Given the description of an element on the screen output the (x, y) to click on. 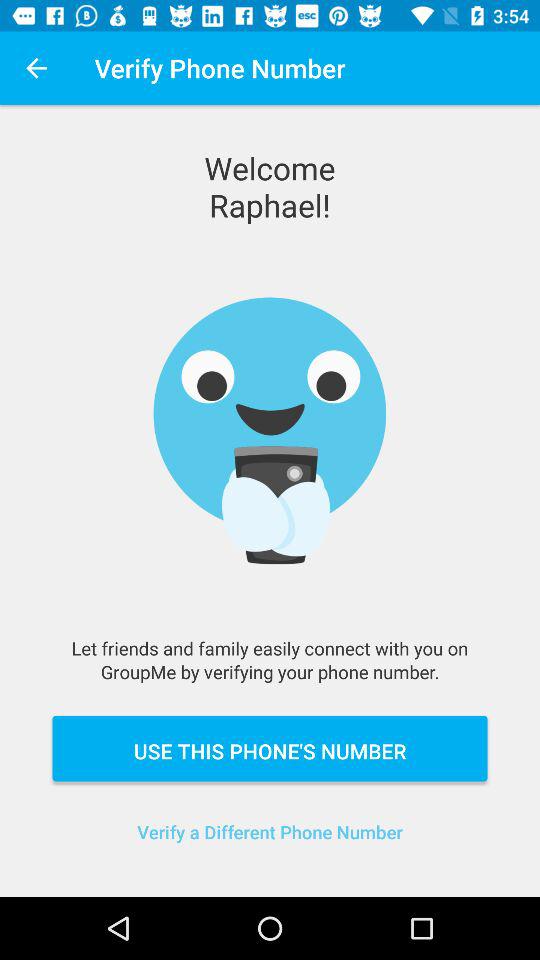
swipe until verify a different icon (270, 844)
